Given the description of an element on the screen output the (x, y) to click on. 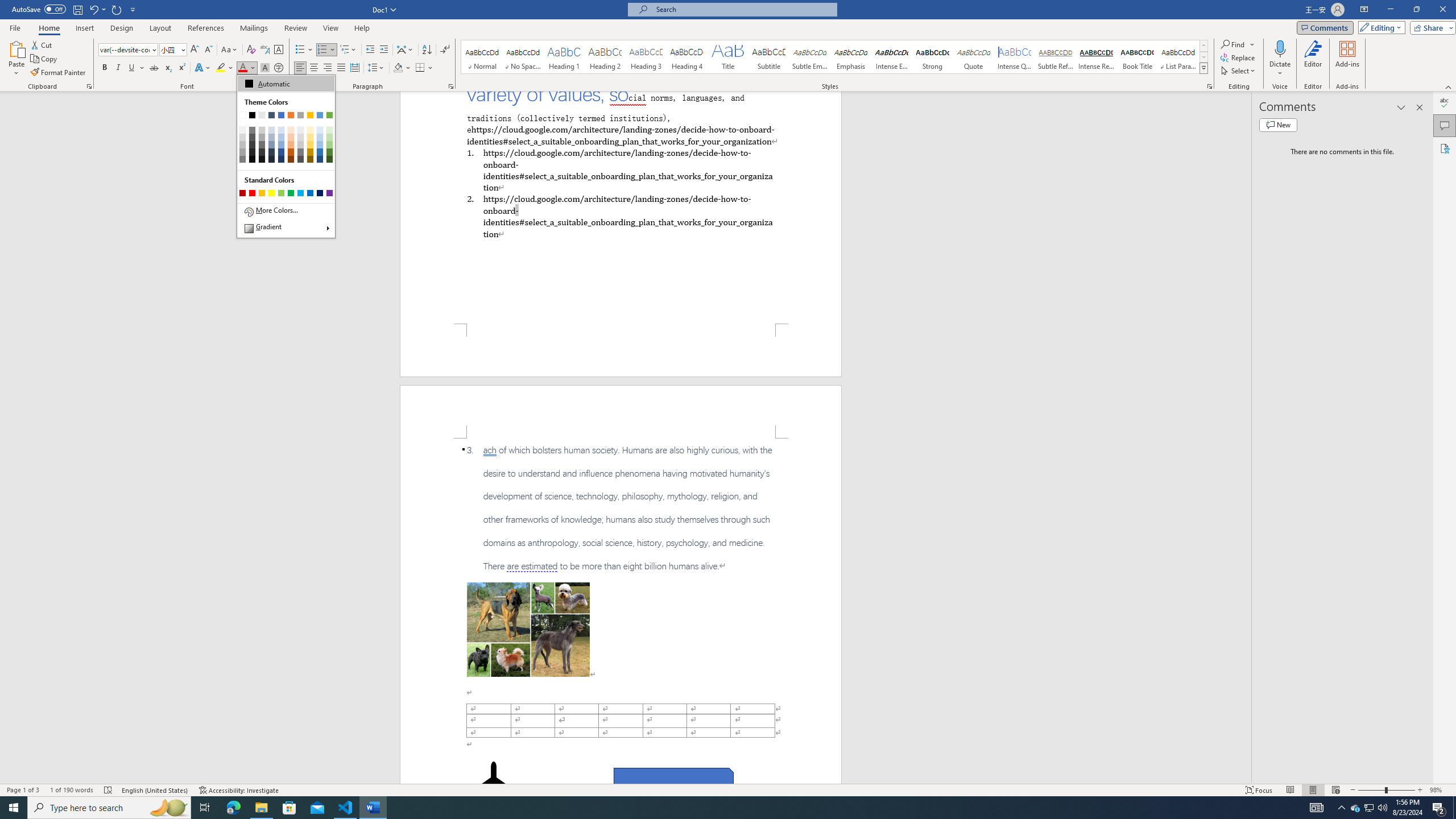
Page 1 content (620, 207)
Editing (1379, 27)
